Given the description of an element on the screen output the (x, y) to click on. 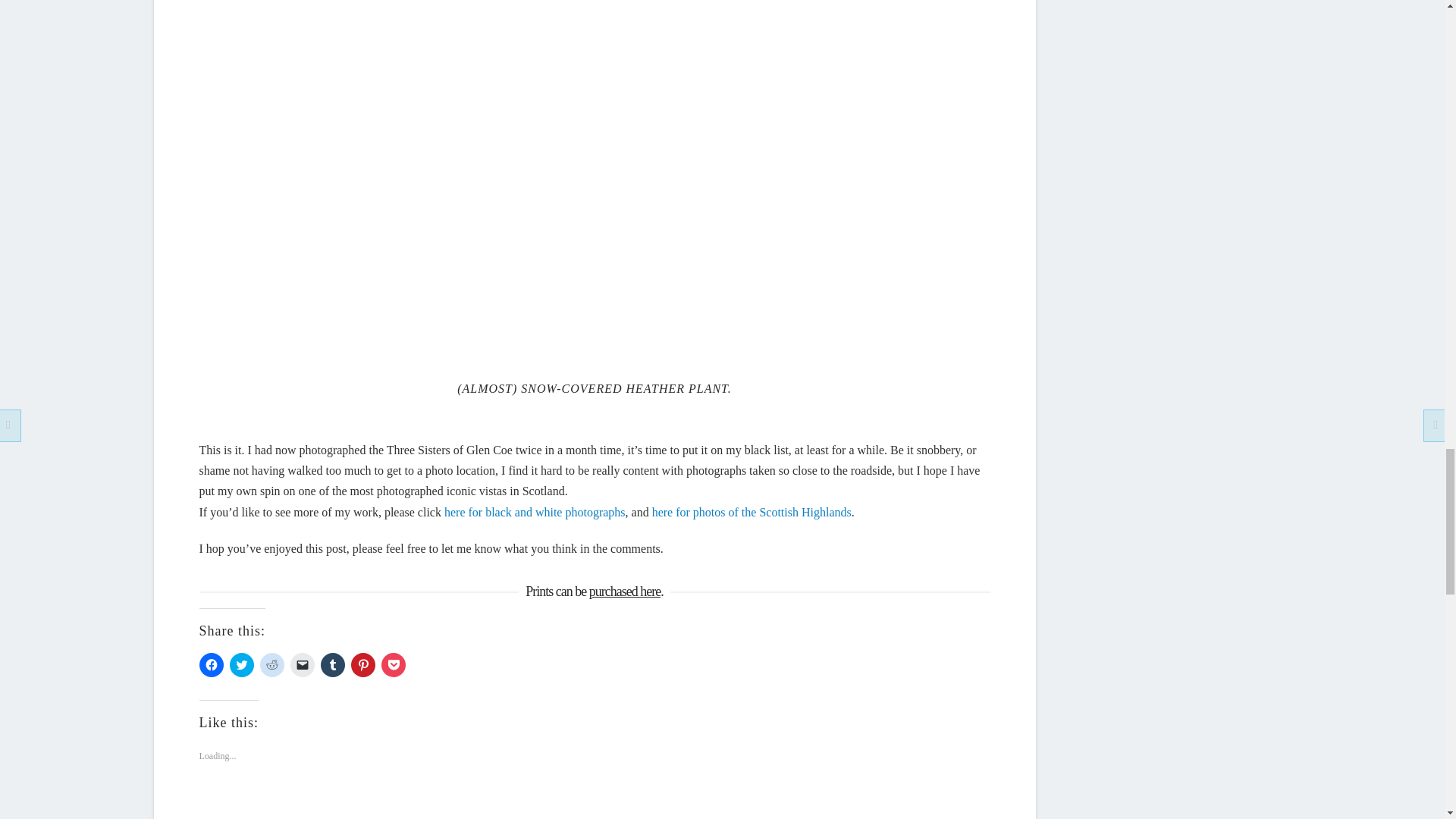
Black and white landscapes (535, 512)
purchased here (625, 590)
Click to share on Facebook (210, 664)
The Glens of the Scottish Highlands (751, 512)
Click to share on Reddit (271, 664)
here for photos of the Scottish Highlands (751, 512)
here for black and white photographs (535, 512)
Click to share on Twitter (240, 664)
